Given the description of an element on the screen output the (x, y) to click on. 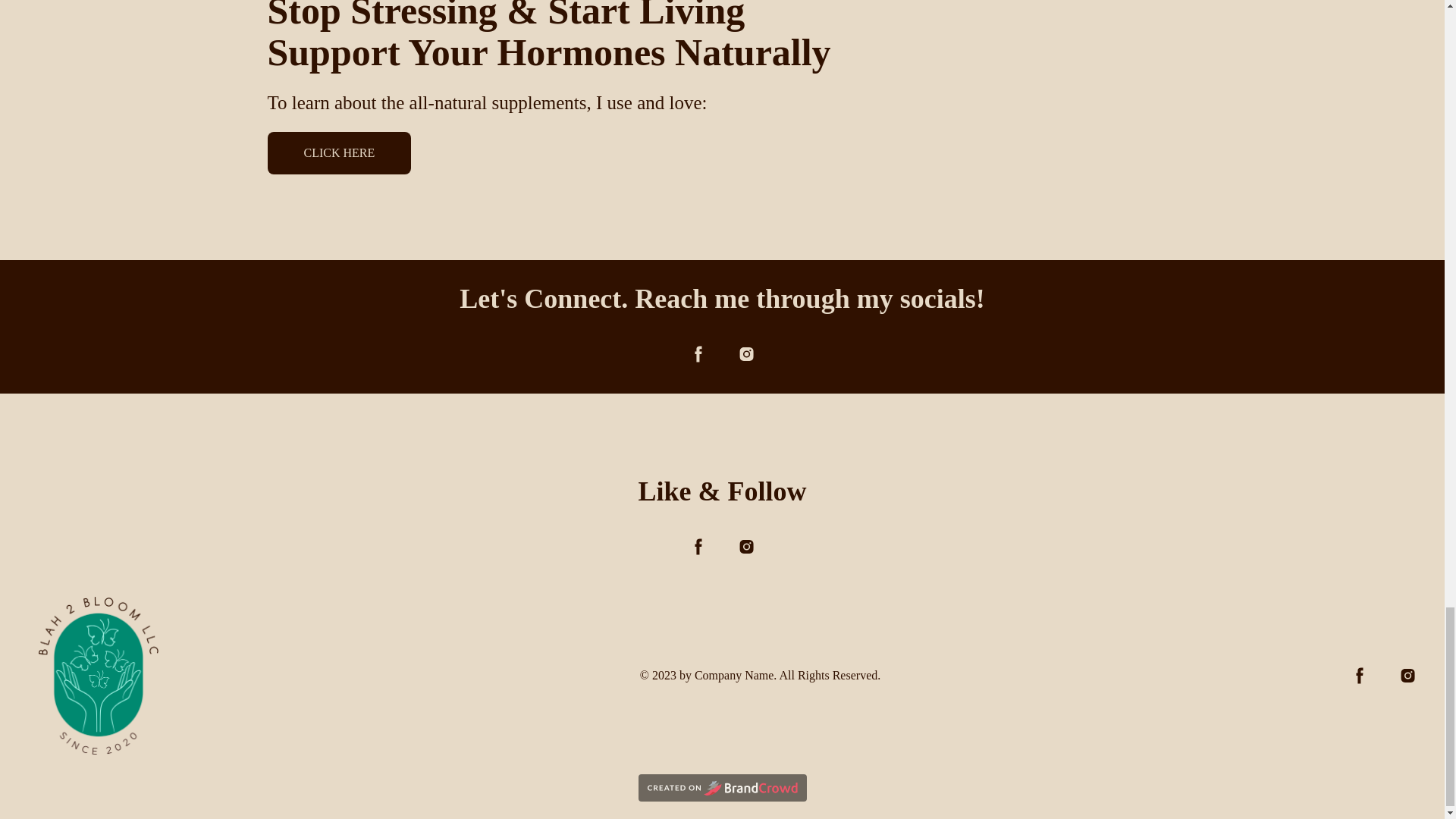
CLICK HERE (338, 153)
CLICK HERE (338, 153)
